Given the description of an element on the screen output the (x, y) to click on. 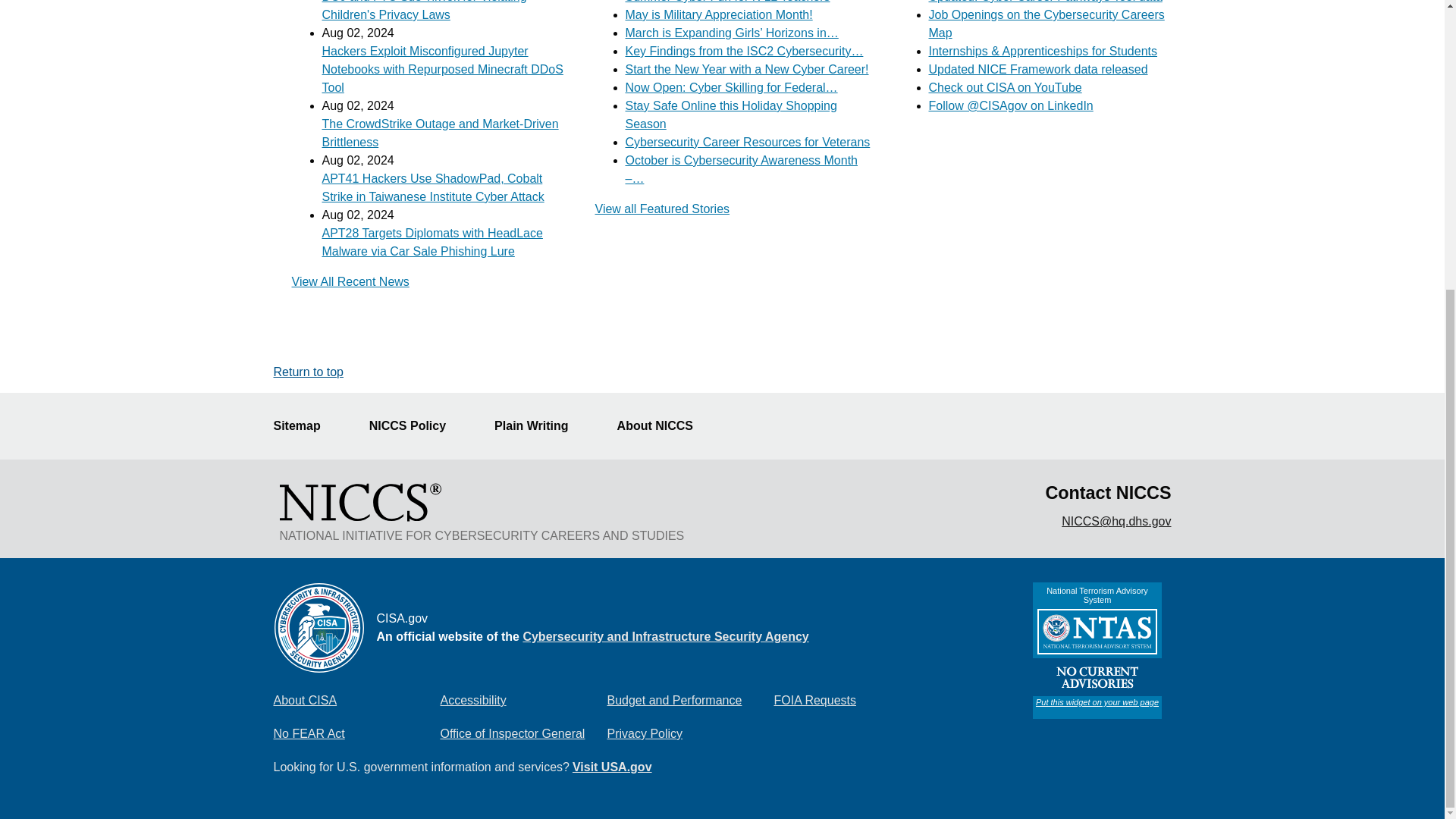
NICCS Policy (416, 426)
Job Openings on the Cybersecurity Careers Map (1045, 23)
About NICCS (664, 426)
Stay Safe Online this Holiday Shopping Season (729, 114)
Start the New Year with a New Cyber Career! (745, 69)
Updated Cyber Career Pathways Tool (1044, 1)
Check out CISA on YouTube (1004, 87)
The CrowdStrike Outage and Market-Driven Brittleness (439, 132)
Updated NICE Framework data released (1037, 69)
View all Featured Stories (661, 208)
Sitemap (305, 426)
National Terrorism Advisory System (1096, 650)
